Given the description of an element on the screen output the (x, y) to click on. 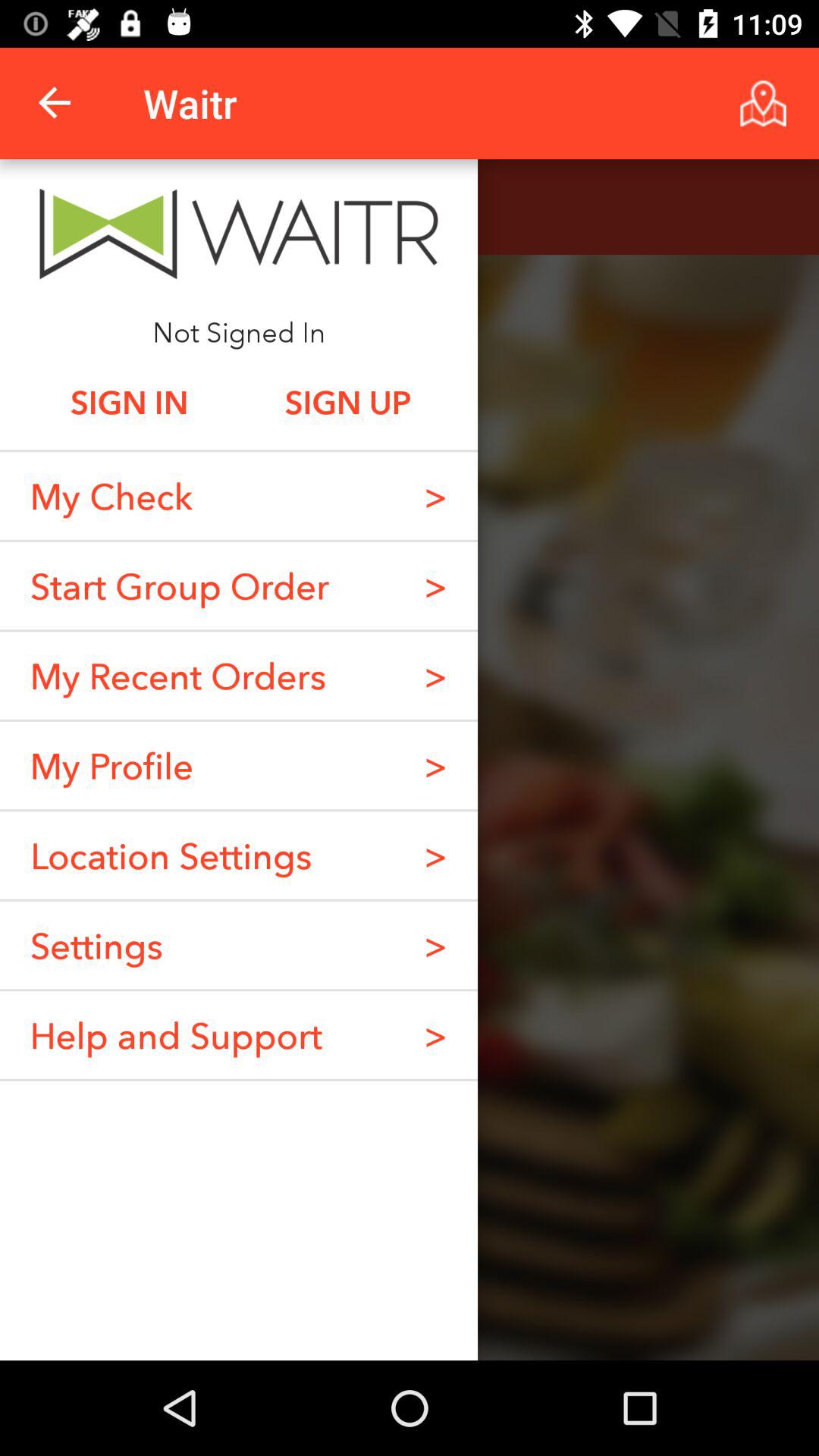
jump to the my profile item (111, 765)
